Given the description of an element on the screen output the (x, y) to click on. 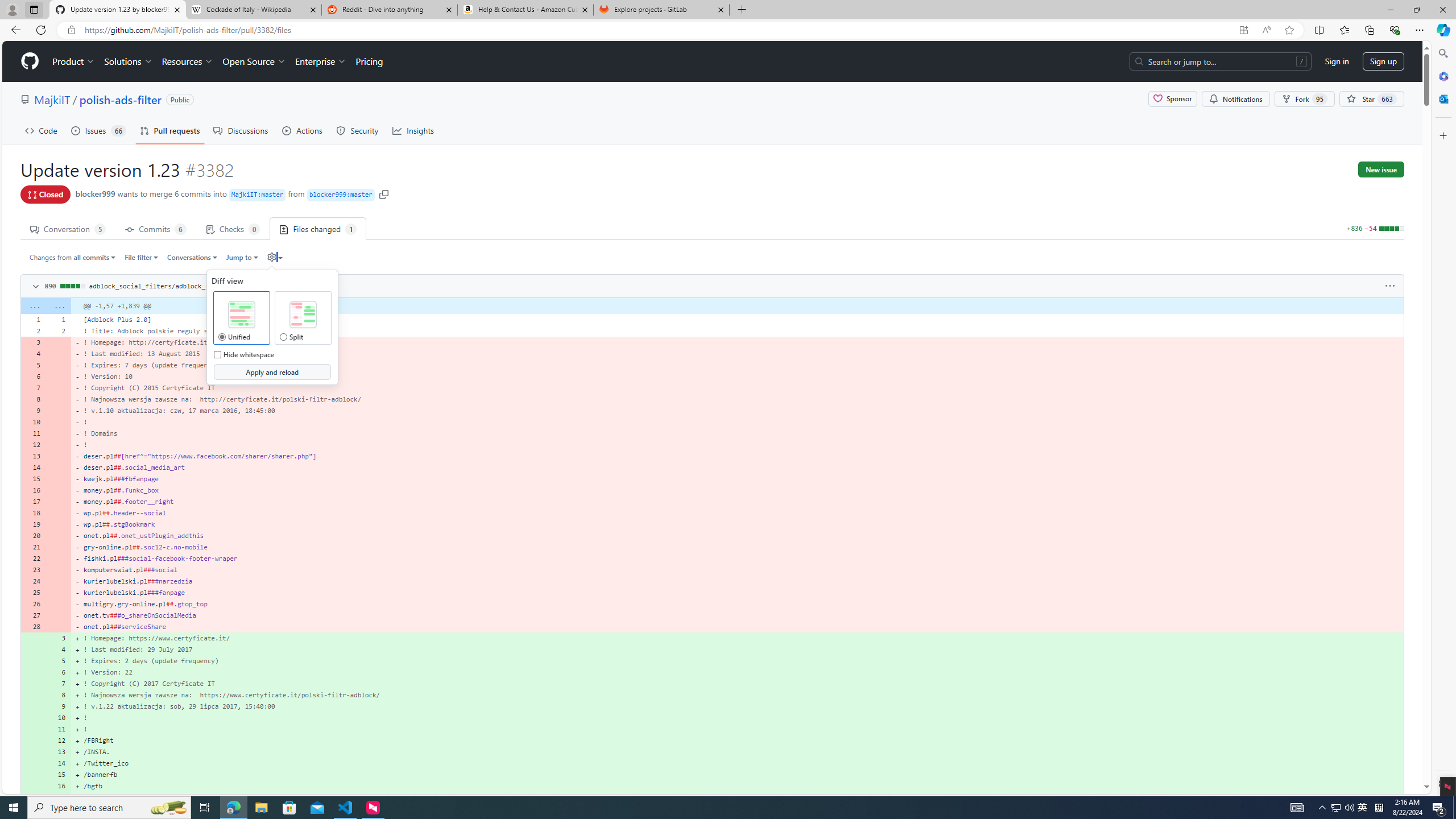
16 (58, 785)
Resources (187, 60)
Diff settings (274, 257)
Pull requests (170, 130)
Conversations (192, 257)
Apply and reload (271, 371)
Cockade of Italy - Wikipedia (253, 9)
26 (33, 603)
Security (357, 130)
Solutions (128, 60)
You must be signed in to change notification settings (1235, 98)
 Checks 0 (232, 228)
